Given the description of an element on the screen output the (x, y) to click on. 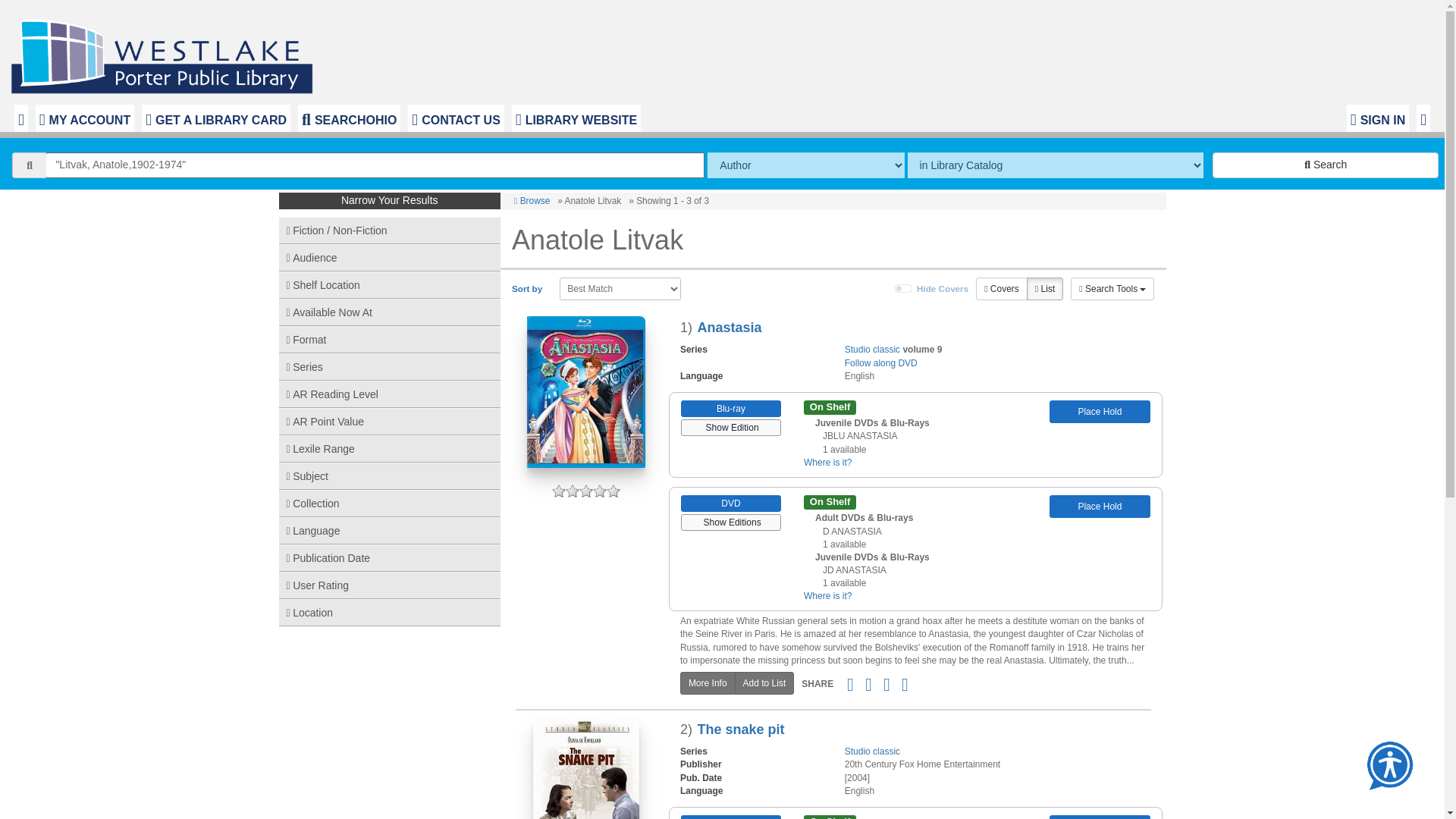
CONTACT US (455, 117)
LIBRARY WEBSITE (576, 117)
Library Home Page (165, 52)
The method of searching. (805, 165)
"Litvak, Anatole,1902-1974" (375, 165)
MY ACCOUNT (83, 117)
SIGN IN (1377, 117)
GET A LIBRARY CARD (215, 117)
Login (1377, 117)
SEARCHOHIO (349, 117)
 Search (1325, 165)
on (903, 288)
